Given the description of an element on the screen output the (x, y) to click on. 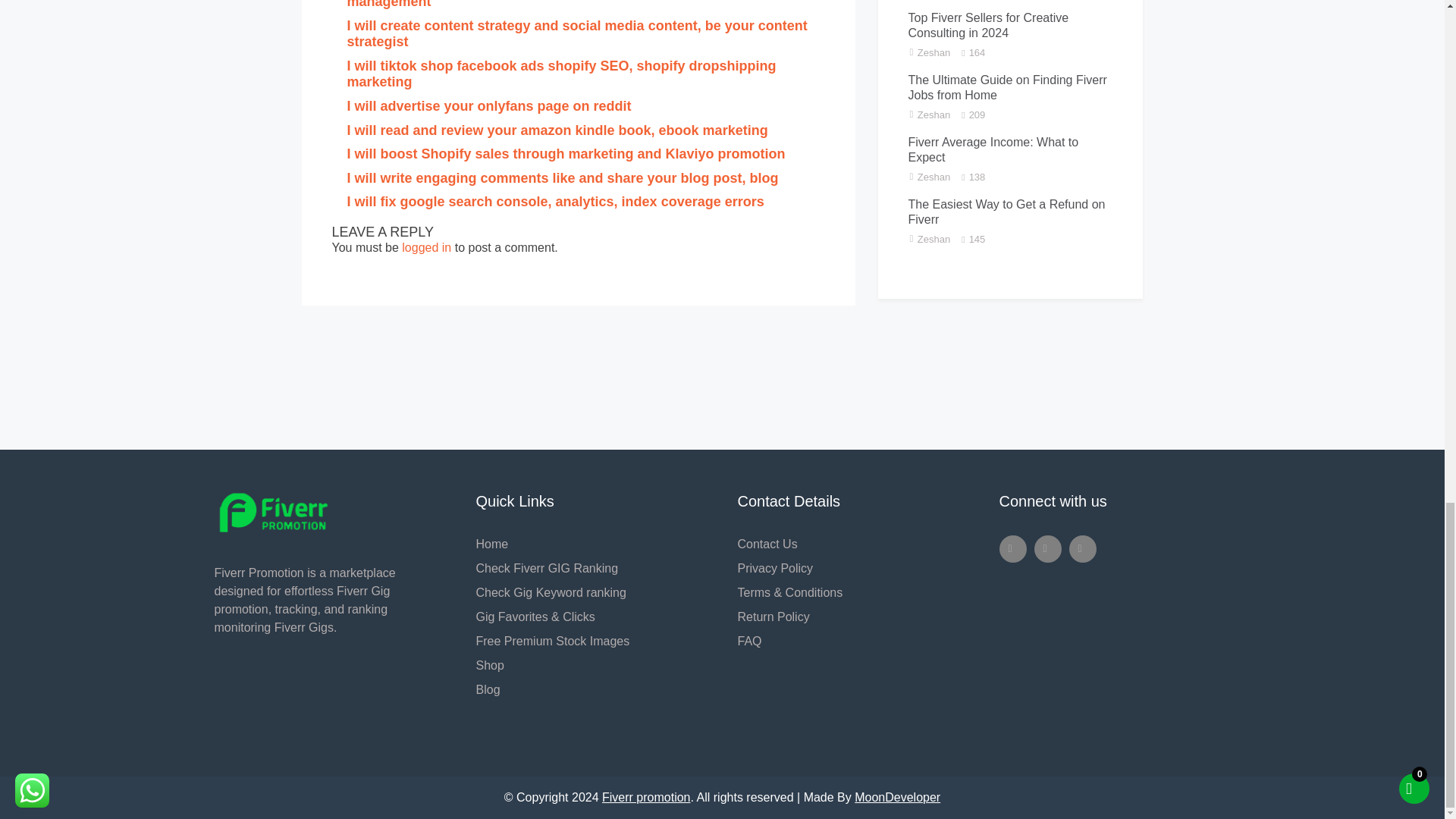
I will advertise your onlyfans page on reddit (489, 105)
